Given the description of an element on the screen output the (x, y) to click on. 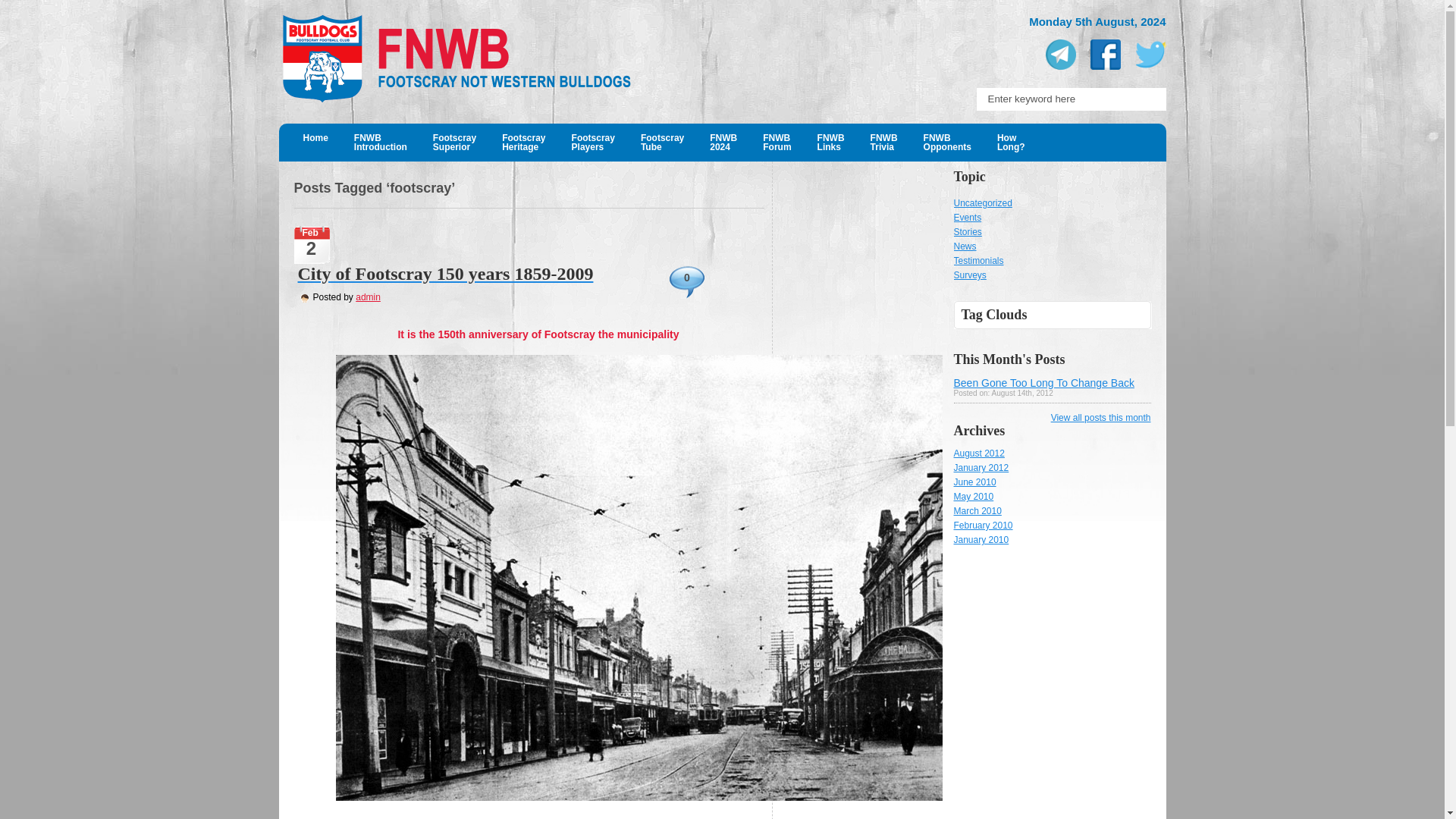
Uncategorized (1011, 142)
admin (982, 203)
Stories (367, 296)
City of Footscray 150 years 1859-2009 (831, 142)
Permanent Link to City of Footscray 150 years 1859-2009 (967, 231)
Home (501, 273)
Enter keyword here (947, 142)
